Given the description of an element on the screen output the (x, y) to click on. 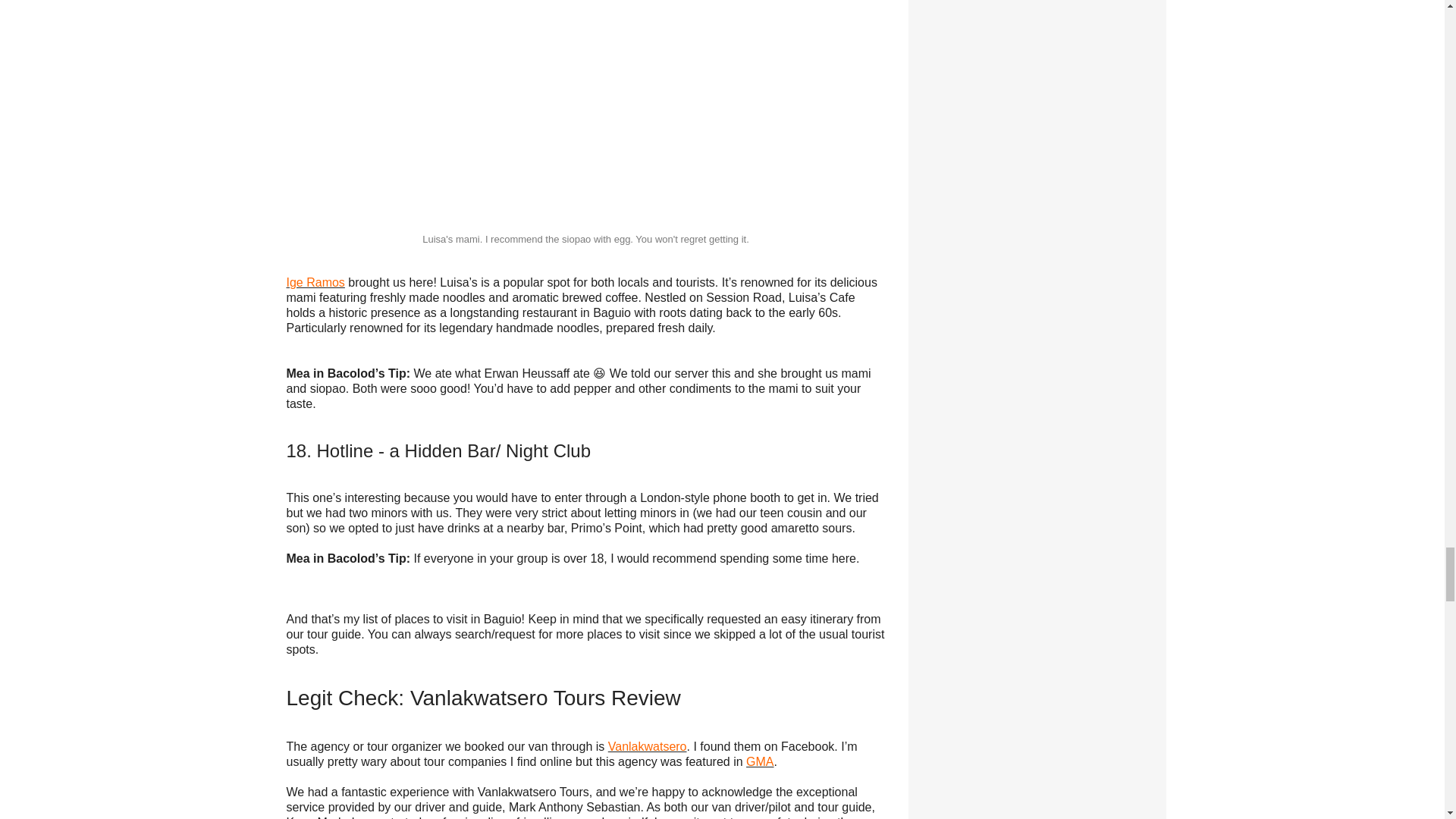
Ige Ramos (315, 282)
GMA (759, 761)
Vanlakwatsero (647, 746)
